Given the description of an element on the screen output the (x, y) to click on. 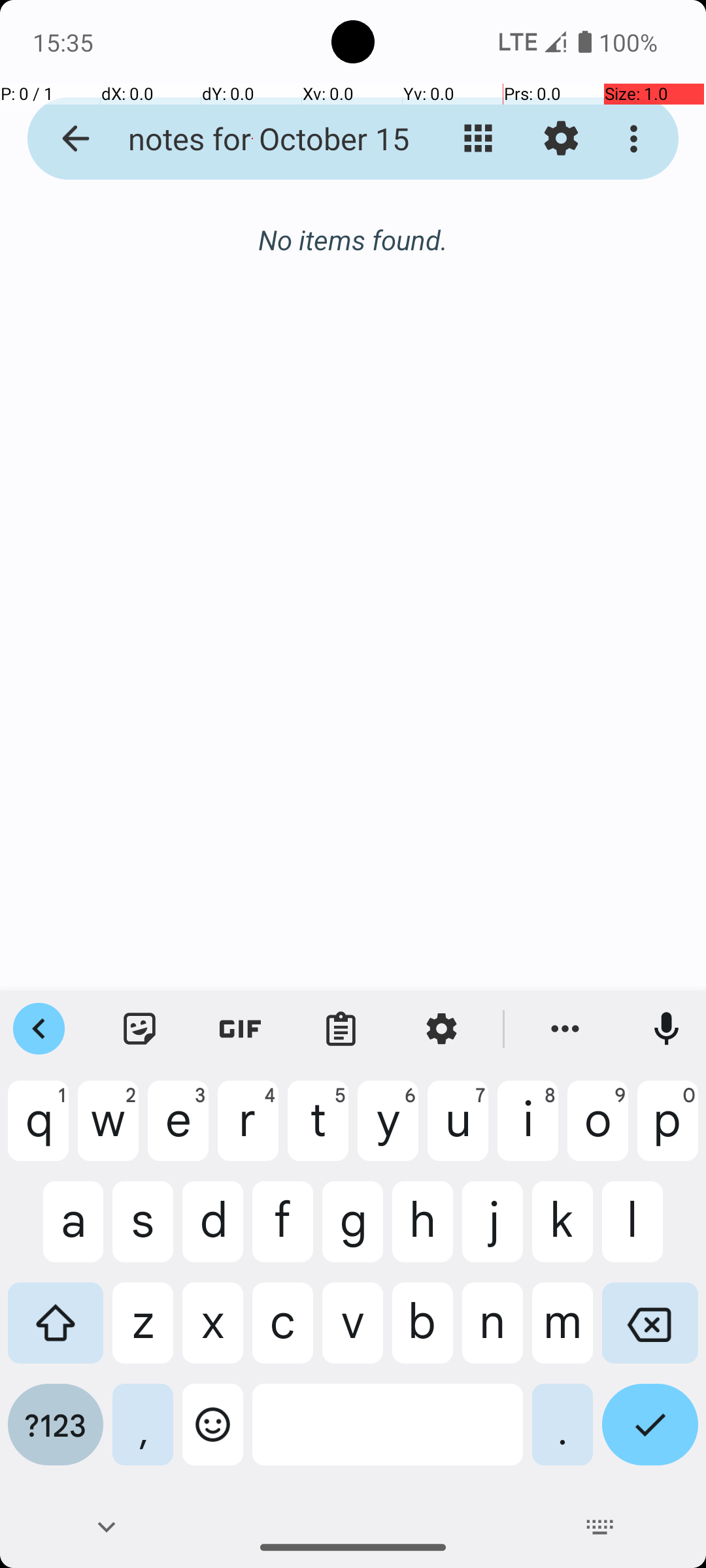
Meeting notes for October 15 Element type: android.widget.EditText (252, 138)
